Given the description of an element on the screen output the (x, y) to click on. 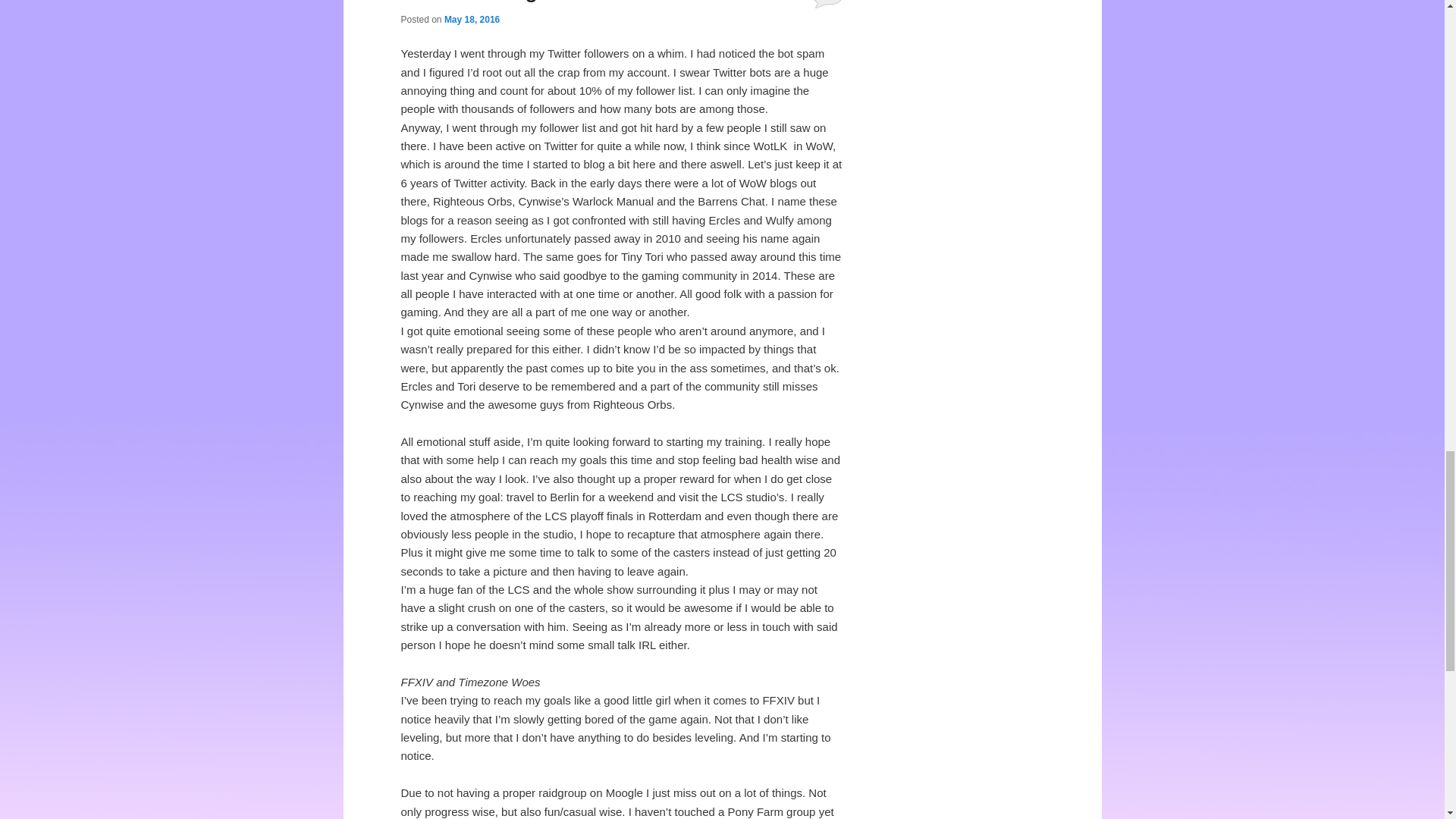
2 (827, 4)
Weird Evening (468, 1)
2:22 pm (471, 19)
May 18, 2016 (471, 19)
